Given the description of an element on the screen output the (x, y) to click on. 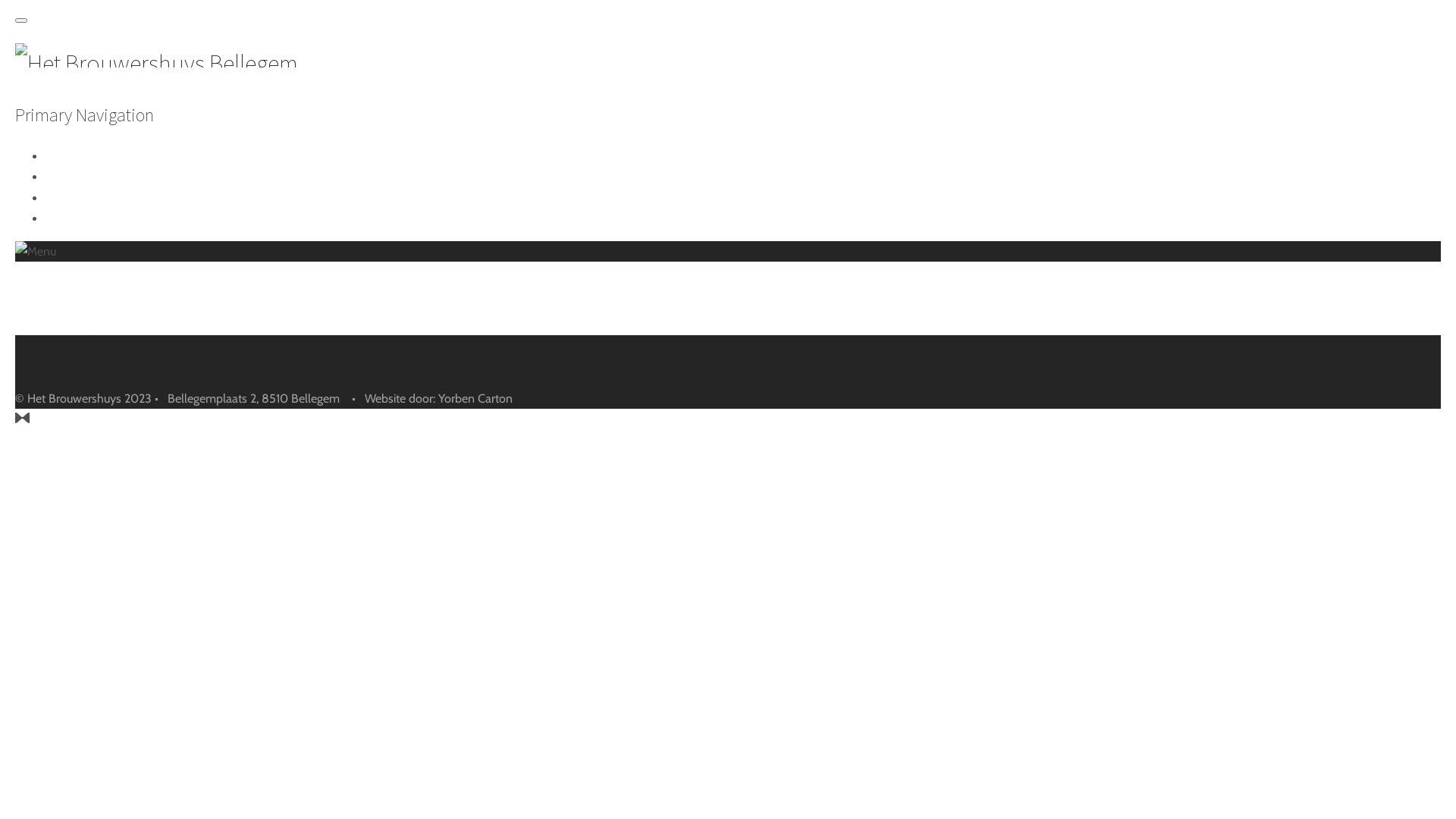
HOME Element type: text (78, 156)
MENU Element type: text (78, 177)
CONTACT Element type: text (87, 219)
GALERIJ Element type: text (83, 198)
Het Brouwershuys Bellegem Element type: hover (156, 63)
